Given the description of an element on the screen output the (x, y) to click on. 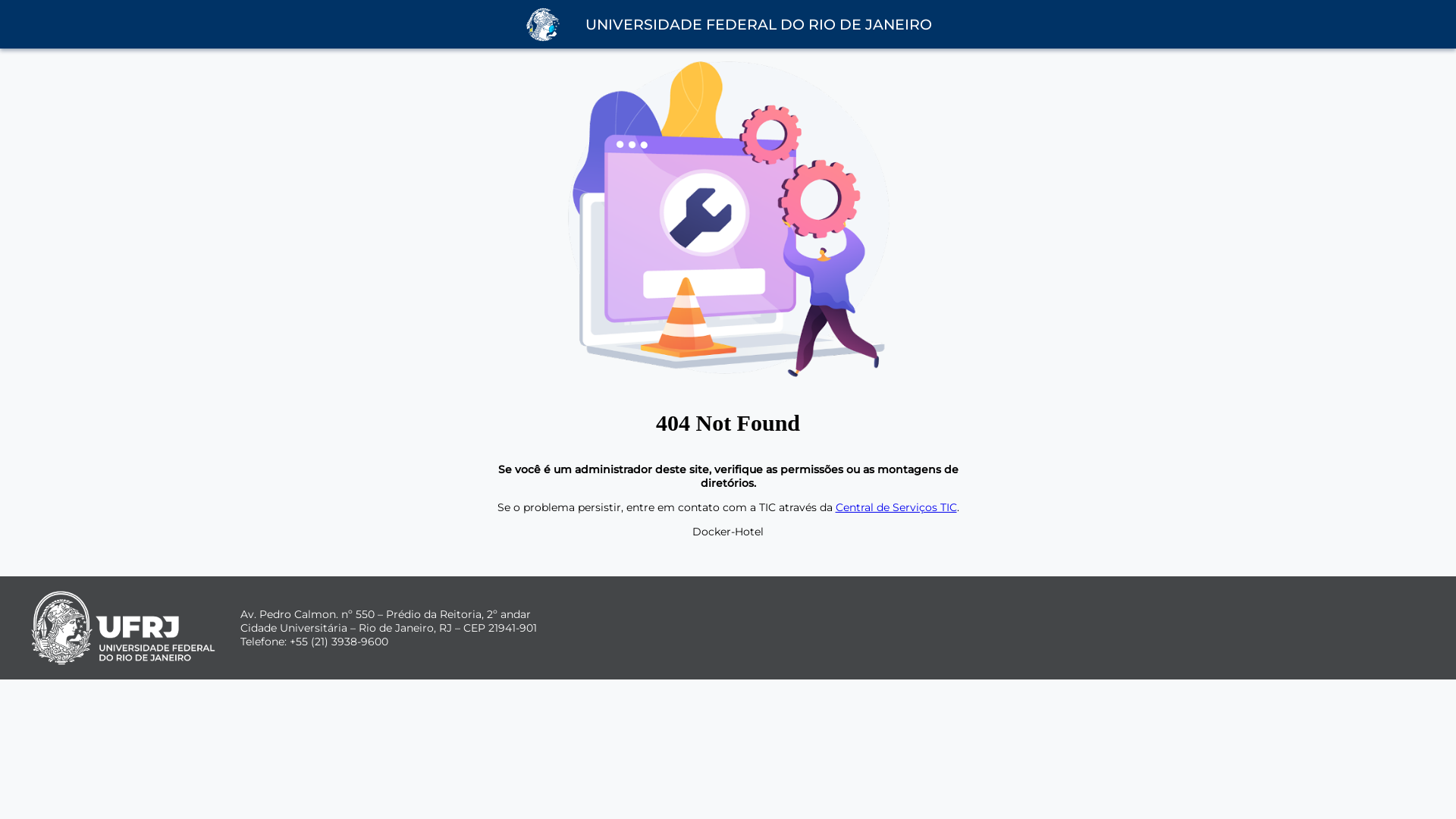
UNIVERSIDADE FEDERAL DO RIO DE JANEIRO Element type: text (758, 24)
